Given the description of an element on the screen output the (x, y) to click on. 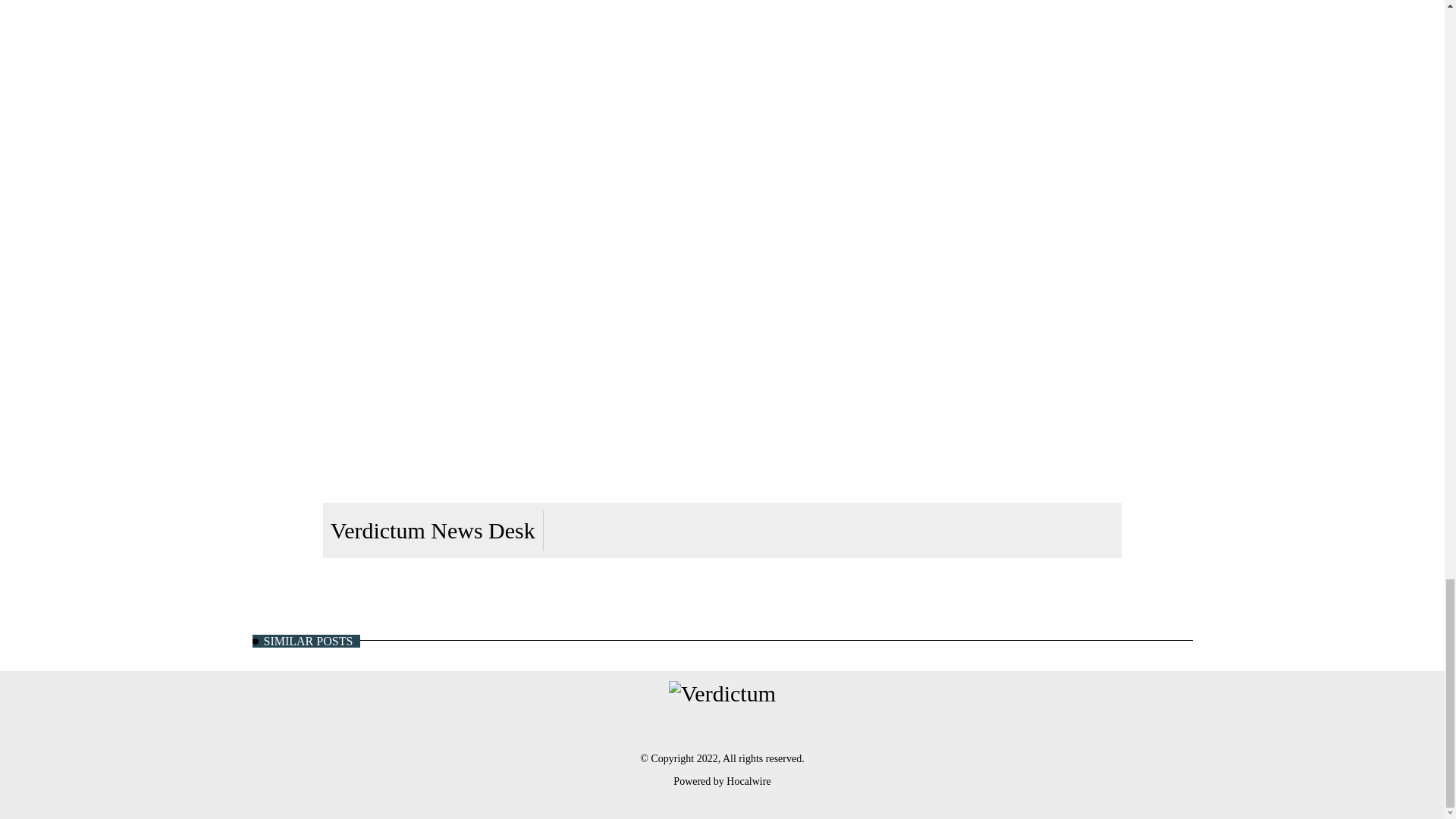
Verdictum (722, 692)
